Given the description of an element on the screen output the (x, y) to click on. 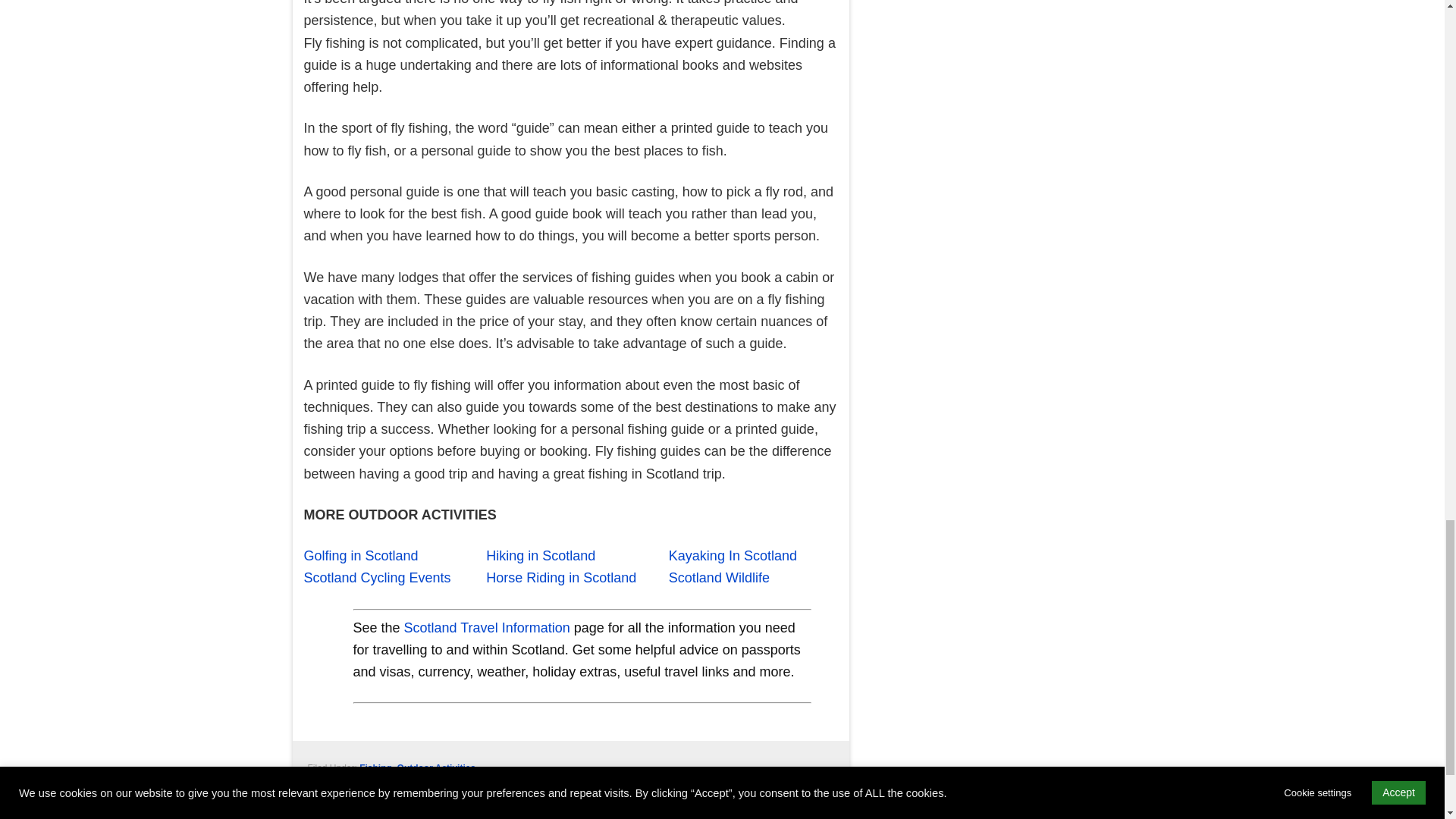
Outdoor Activities (436, 767)
Fishing (375, 767)
Scotland Wildlife (719, 577)
Scotland Travel Information (487, 627)
Kayaking In Scotland (732, 555)
Horse Riding in Scotland (561, 577)
Golfing in Scotland (359, 555)
Scotland Cycling Events (375, 577)
Hiking in Scotland (540, 555)
